Given the description of an element on the screen output the (x, y) to click on. 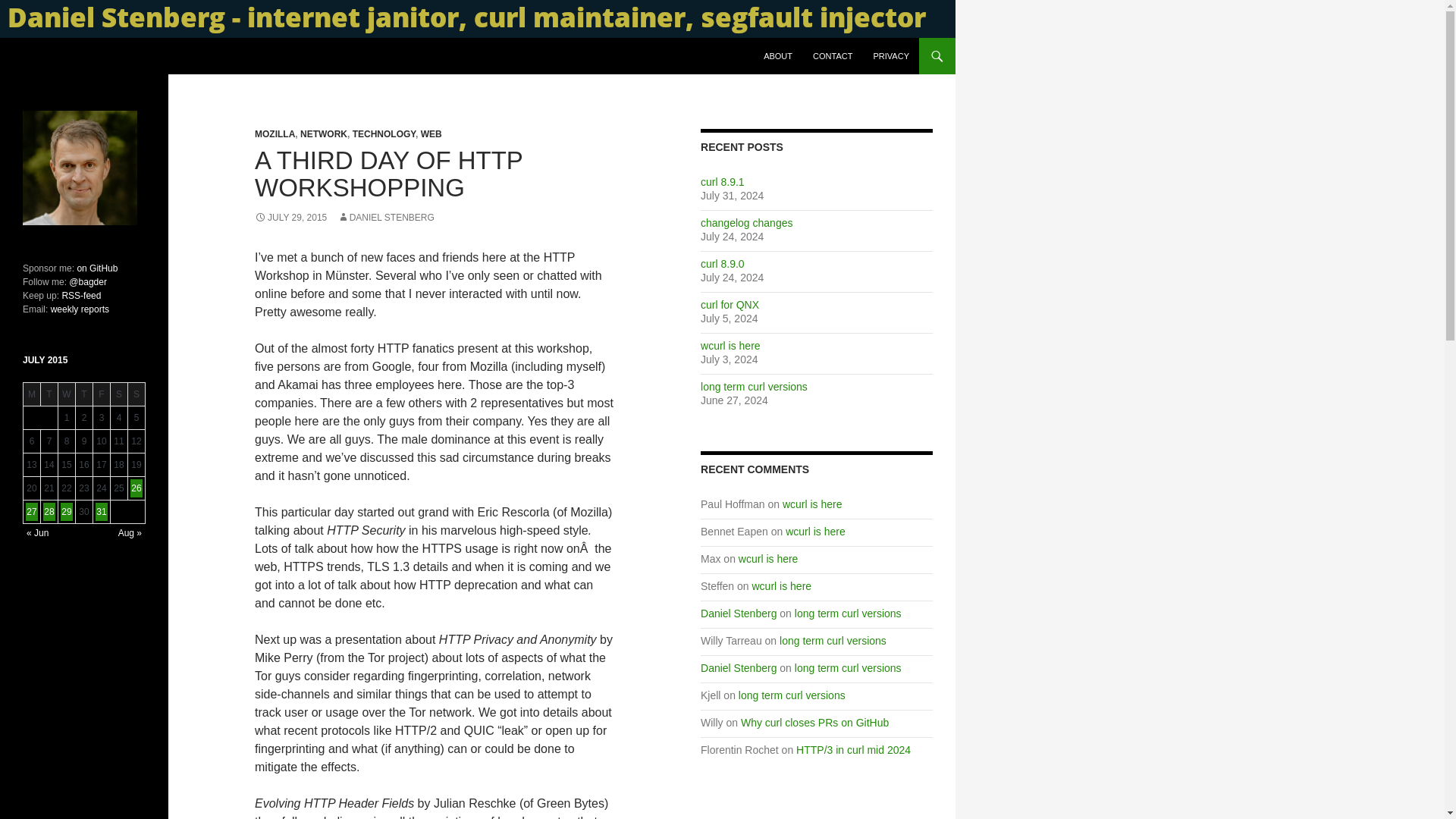
long term curl versions (847, 613)
wcurl is here (767, 558)
PRIVACY (891, 55)
wcurl is here (815, 531)
TECHNOLOGY (383, 133)
MOZILLA (274, 133)
Daniel Stenberg (738, 667)
wcurl is here (782, 585)
ABOUT (778, 55)
long term curl versions (832, 640)
curl 8.9.1 (722, 182)
Why curl closes PRs on GitHub (814, 722)
daniel.haxx.se (69, 55)
